Given the description of an element on the screen output the (x, y) to click on. 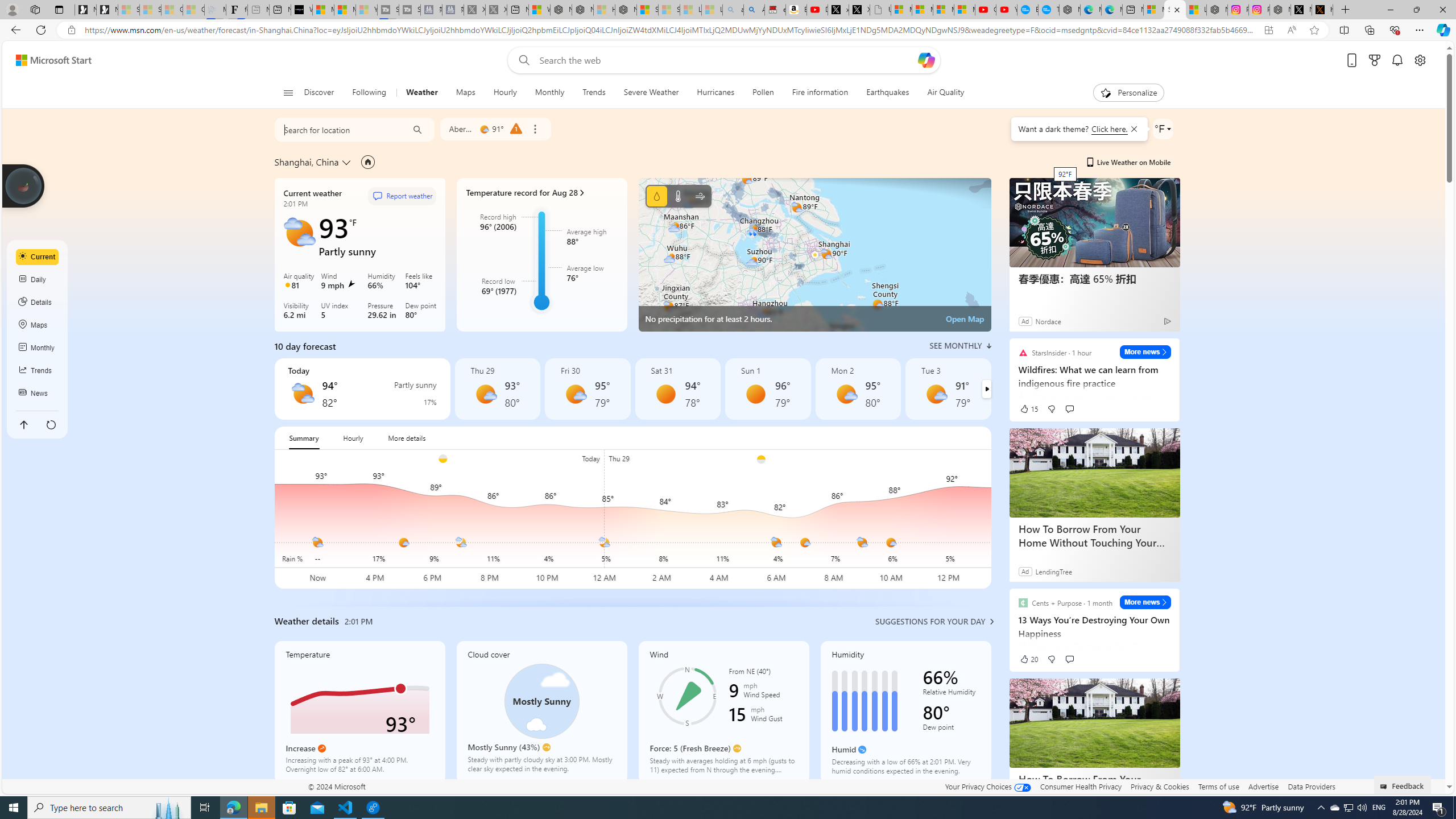
Air Quality (945, 92)
Class: miniMapRadarSVGView-DS-EntryPoint1-1 (814, 254)
Sunny (755, 393)
Class: aqiColorCycle-DS-EntryPoint1-1 (287, 284)
Pollen (763, 92)
Class: forecast-history-link (541, 254)
No precipitation for at least 2 hours (814, 254)
